Given the description of an element on the screen output the (x, y) to click on. 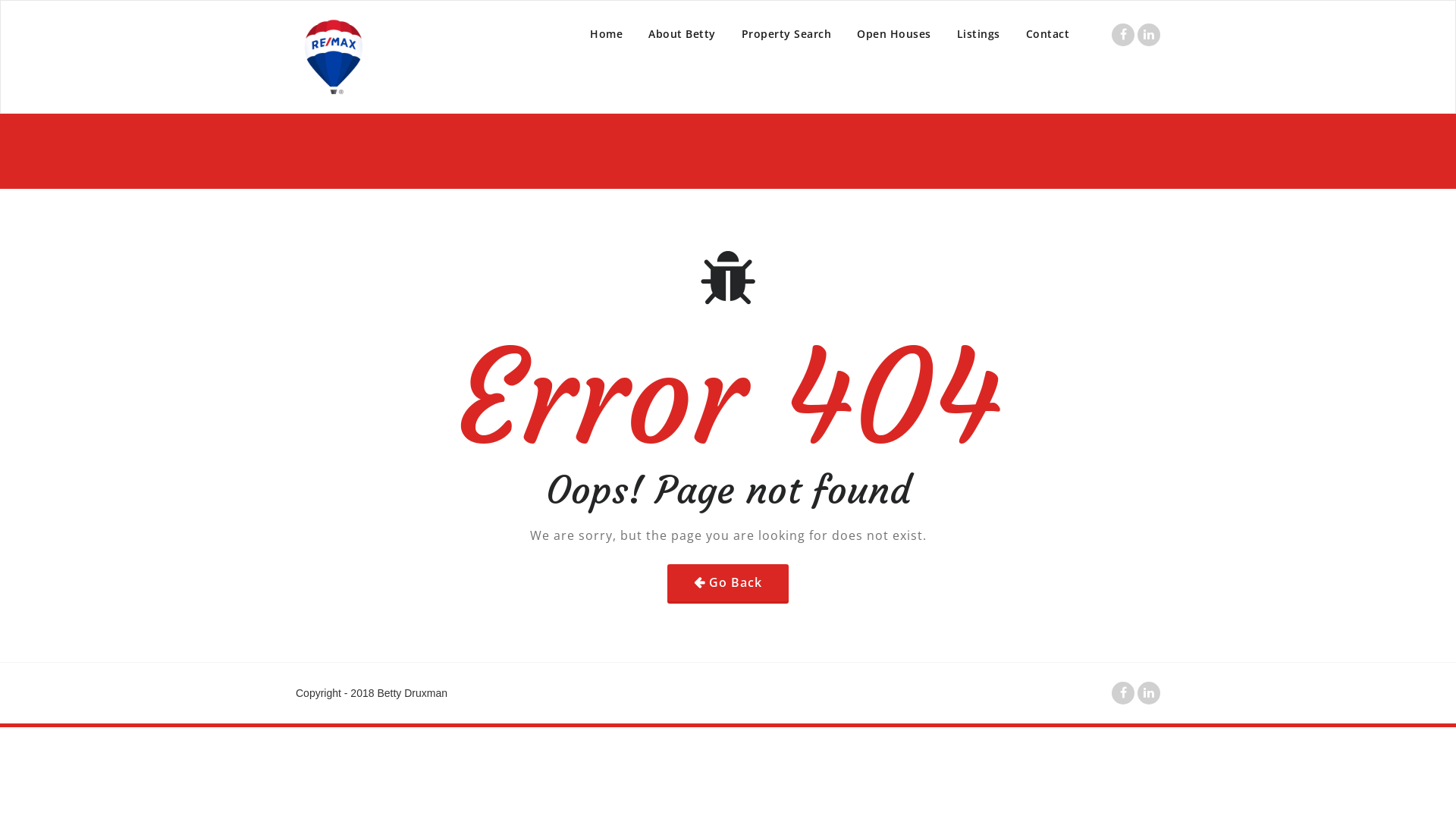
Property Search Element type: text (786, 33)
Listings Element type: text (977, 33)
Go Back Element type: text (727, 582)
About Betty Element type: text (681, 33)
Contact Element type: text (1047, 33)
Open Houses Element type: text (894, 33)
Appointment Element type: hover (333, 56)
Home Element type: text (606, 33)
